Given the description of an element on the screen output the (x, y) to click on. 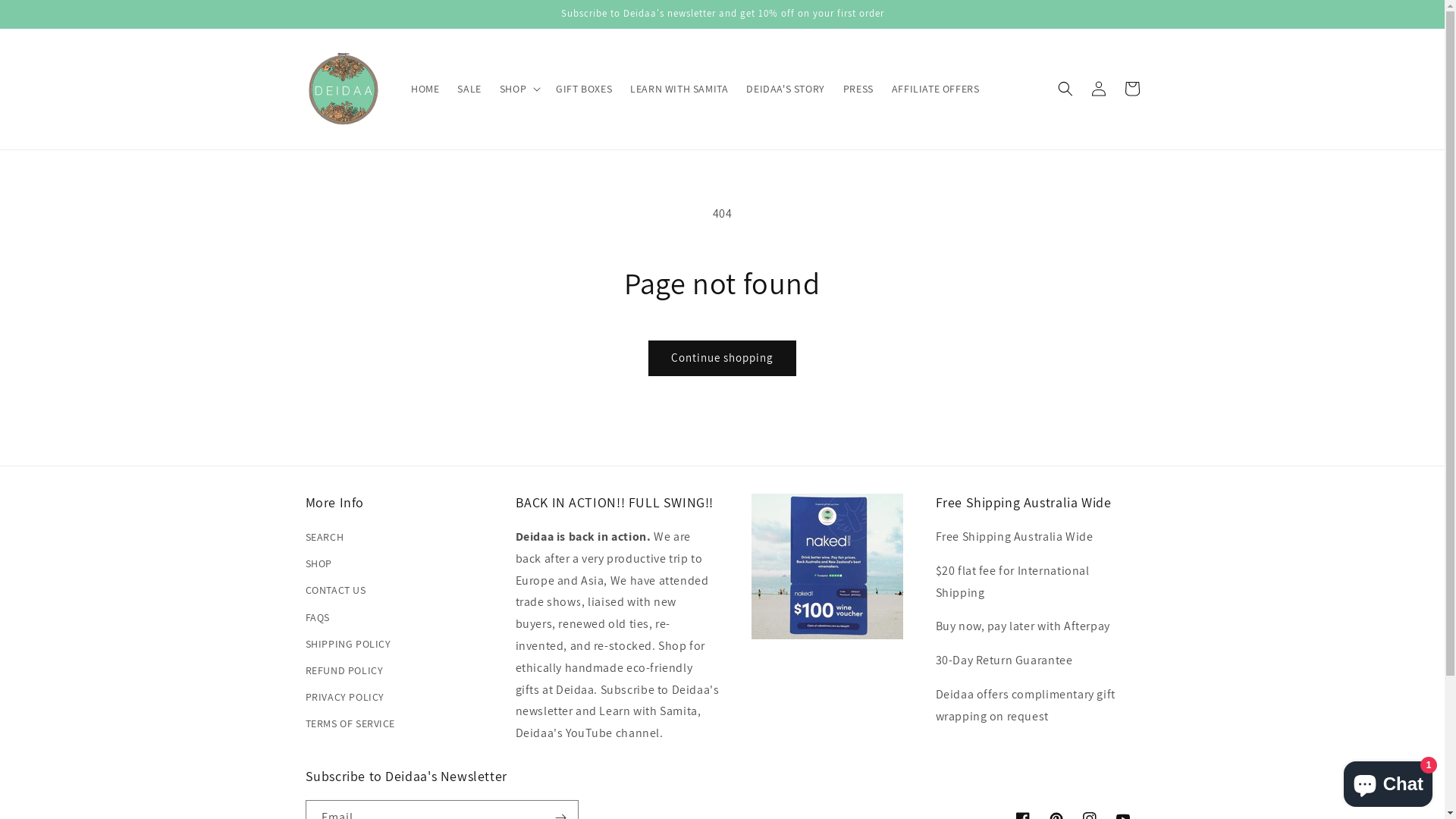
Continue shopping Element type: text (722, 358)
SHIPPING POLICY Element type: text (347, 643)
SEARCH Element type: text (323, 538)
SHOP Element type: text (317, 563)
HOME Element type: text (424, 88)
SALE Element type: text (468, 88)
AFFILIATE OFFERS Element type: text (935, 88)
PRESS Element type: text (858, 88)
TERMS OF SERVICE Element type: text (349, 723)
Shopify online store chat Element type: hover (1388, 780)
PRIVACY POLICY Element type: text (343, 697)
Cart Element type: text (1131, 88)
DEIDAA'S STORY Element type: text (785, 88)
REFUND POLICY Element type: text (343, 670)
Log in Element type: text (1097, 88)
CONTACT US Element type: text (334, 590)
FAQS Element type: text (316, 617)
GIFT BOXES Element type: text (583, 88)
LEARN WITH SAMITA Element type: text (679, 88)
